Given the description of an element on the screen output the (x, y) to click on. 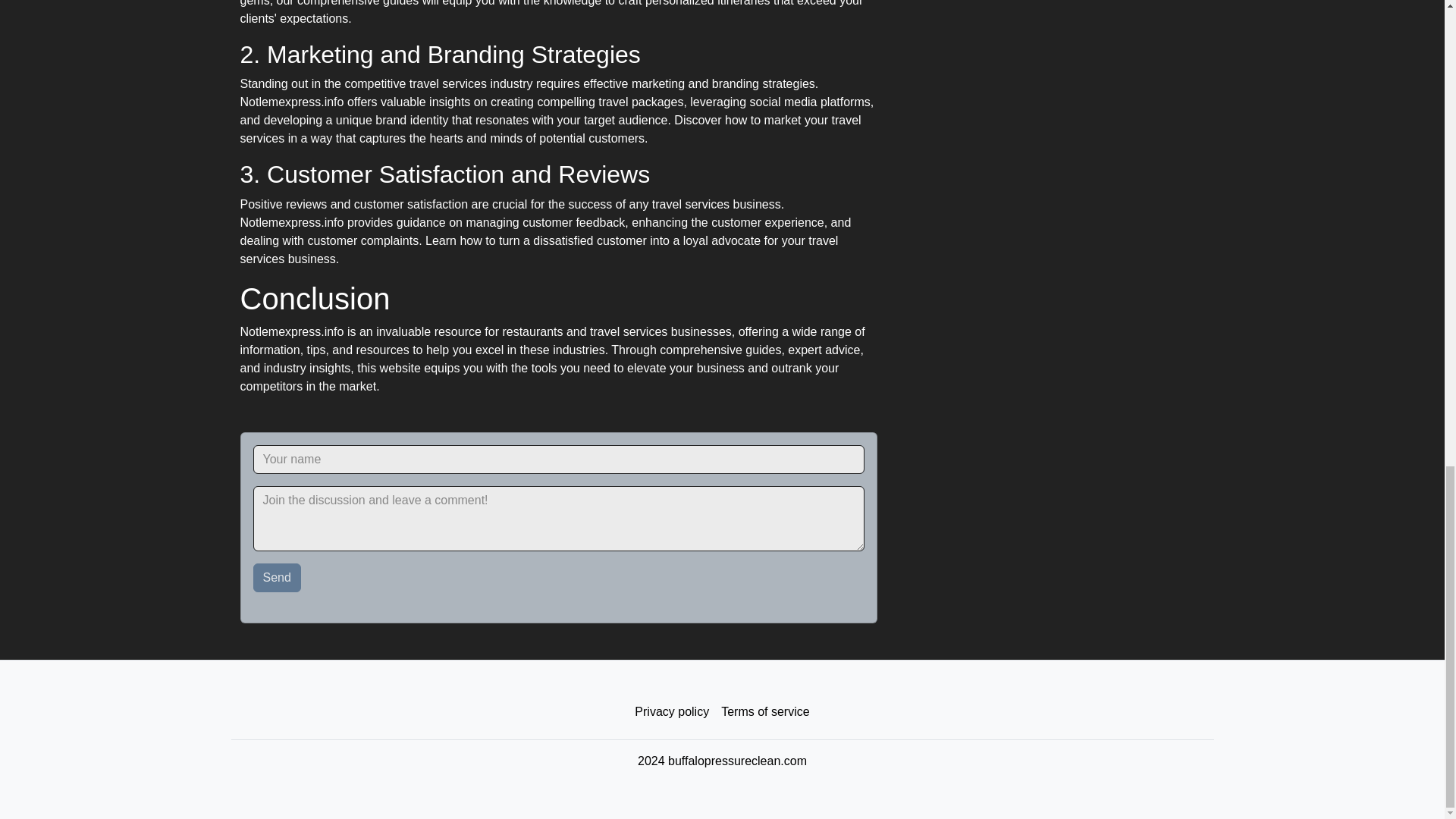
Terms of service (764, 711)
Privacy policy (671, 711)
Send (277, 577)
Send (277, 577)
